Given the description of an element on the screen output the (x, y) to click on. 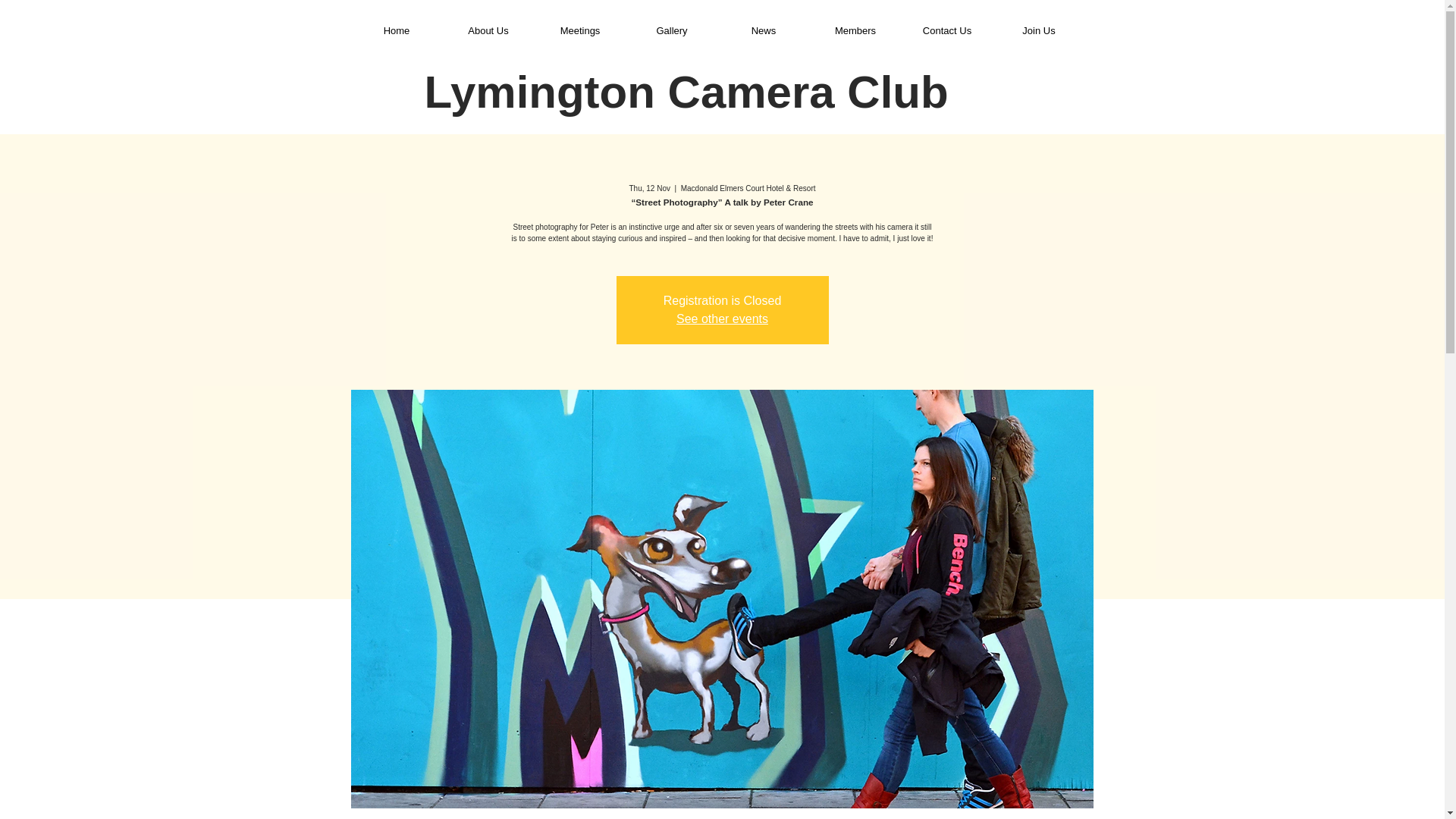
Gallery (670, 30)
Contact Us (947, 30)
Meetings (580, 30)
Home (397, 30)
News (764, 30)
About Us (487, 30)
Members (854, 30)
